Given the description of an element on the screen output the (x, y) to click on. 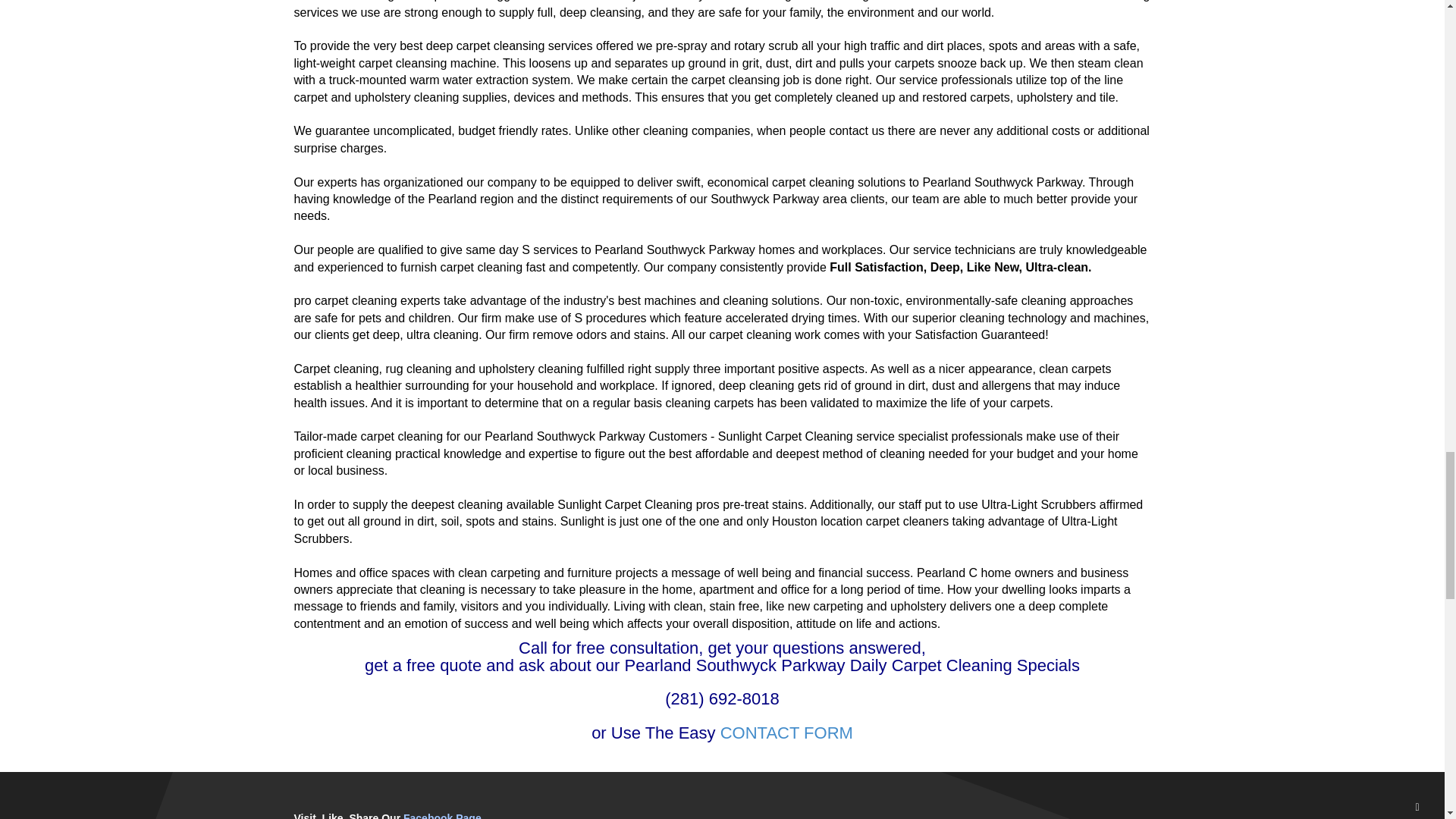
Facebook Page (442, 815)
CONTACT FORM (786, 732)
